Given the description of an element on the screen output the (x, y) to click on. 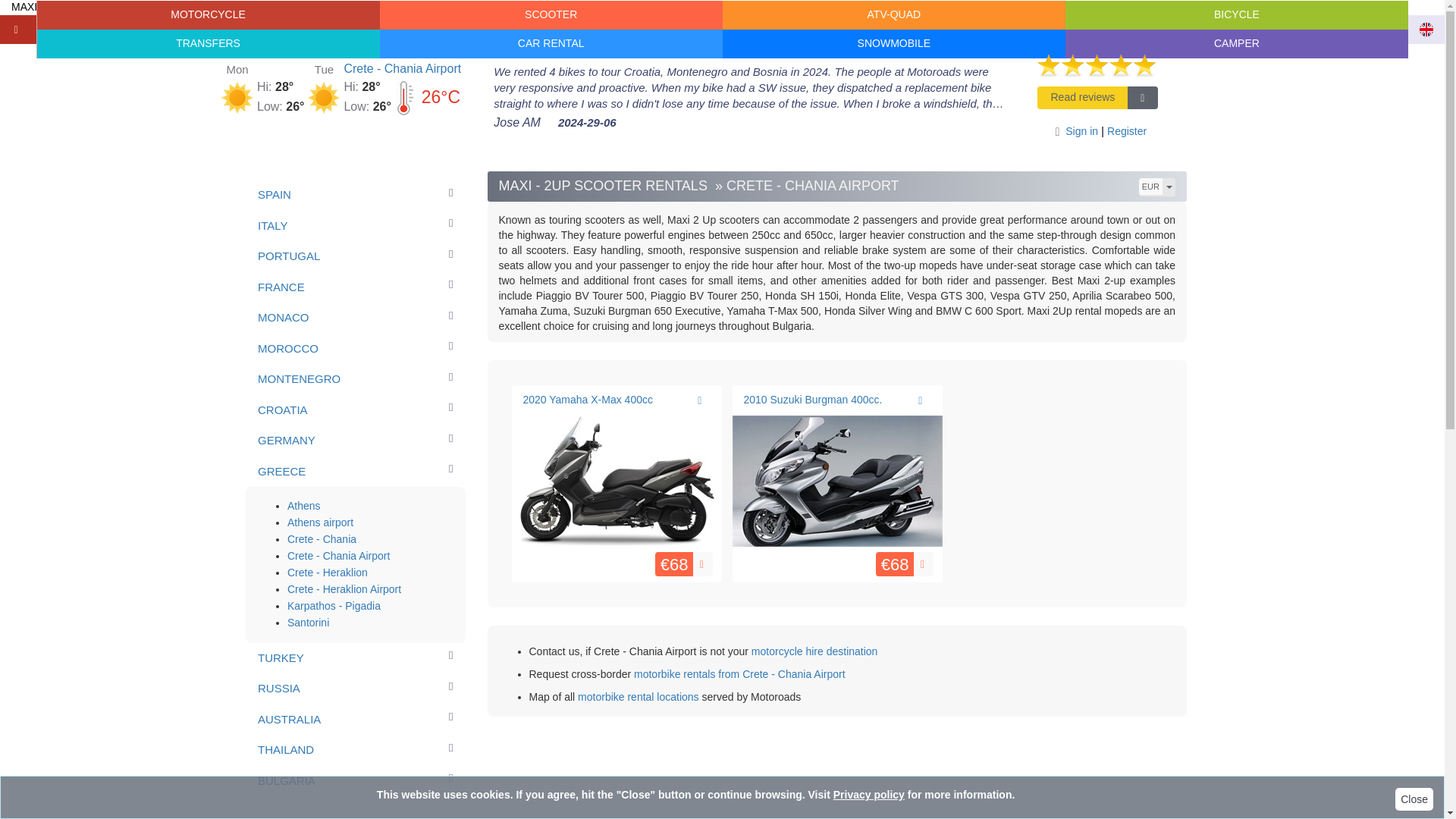
Crete - Chania Airport (402, 68)
SNOWMOBILE (893, 43)
MOTORCYCLE (207, 14)
CAMPER (1236, 43)
BICYCLE (1236, 14)
CAR RENTAL (551, 43)
ITALY (354, 226)
TRANSFERS (207, 43)
ATV-QUAD (893, 14)
Read reviews (1097, 92)
